Given the description of an element on the screen output the (x, y) to click on. 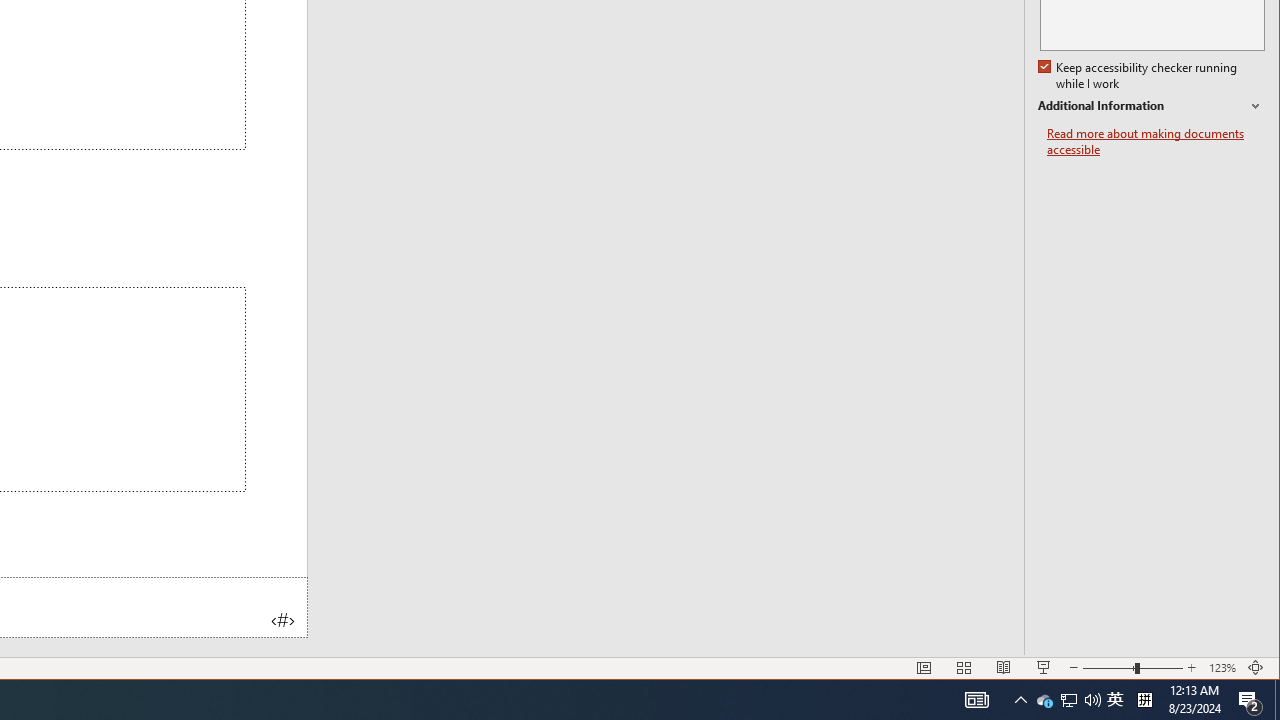
Read more about making documents accessible (1069, 699)
Tray Input Indicator - Chinese (Simplified, China) (1155, 142)
Q2790: 100% (1044, 699)
